Given the description of an element on the screen output the (x, y) to click on. 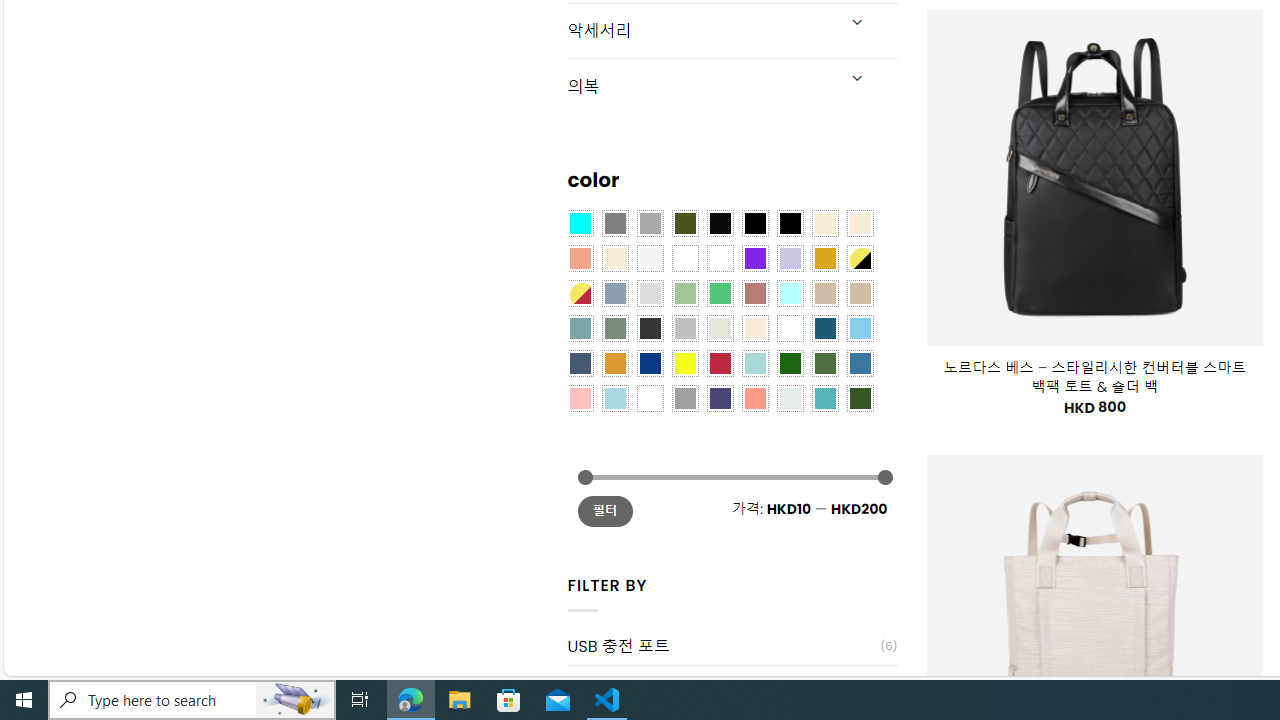
Purple (755, 257)
